Given the description of an element on the screen output the (x, y) to click on. 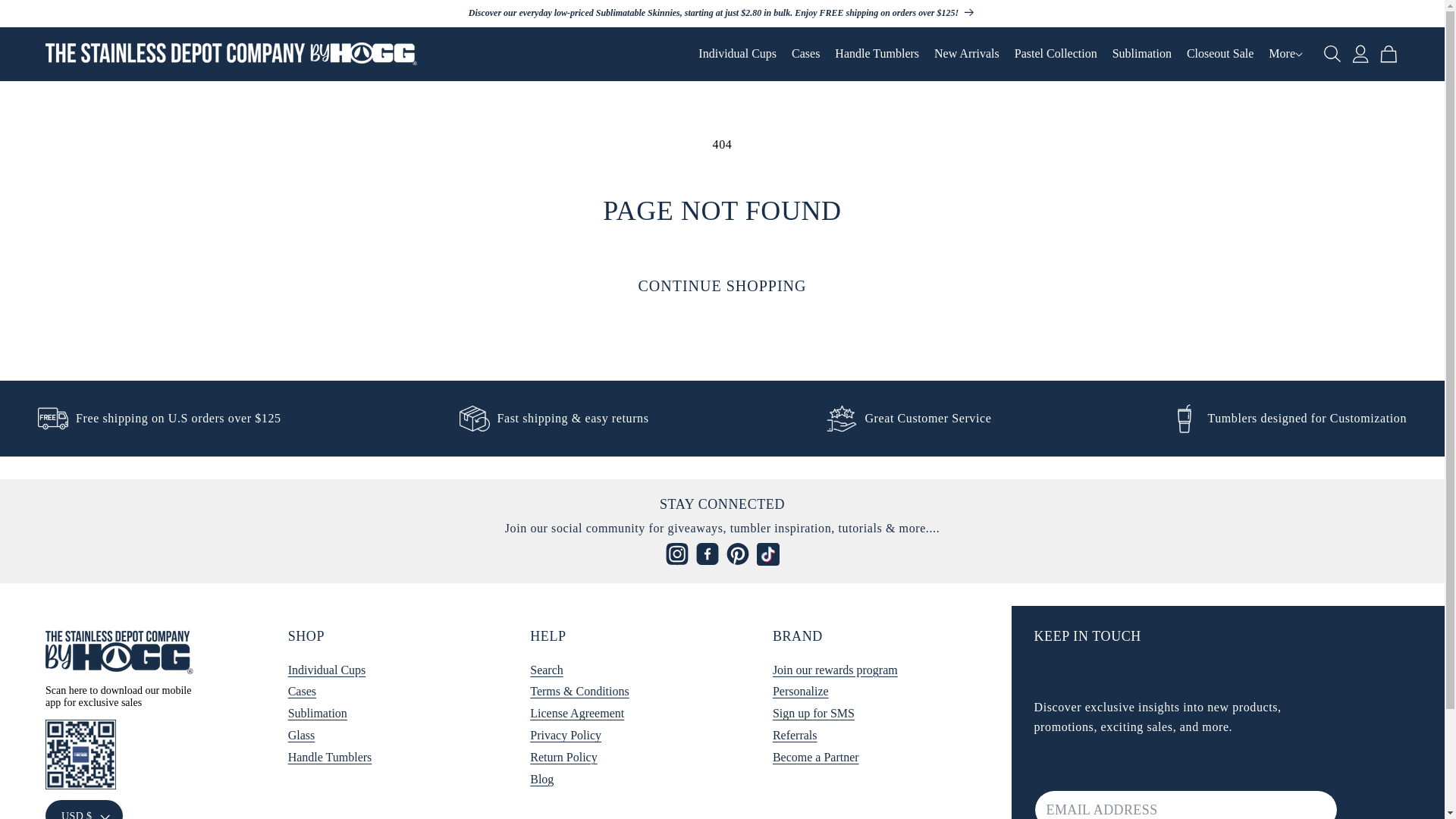
Handle Tumblers (876, 54)
Sublimation (1142, 54)
Pastel Collection (1056, 54)
Closeout Sale (1219, 54)
New Arrivals (966, 54)
Individual Cups (737, 54)
SKIP TO CONTENT (45, 18)
